Given the description of an element on the screen output the (x, y) to click on. 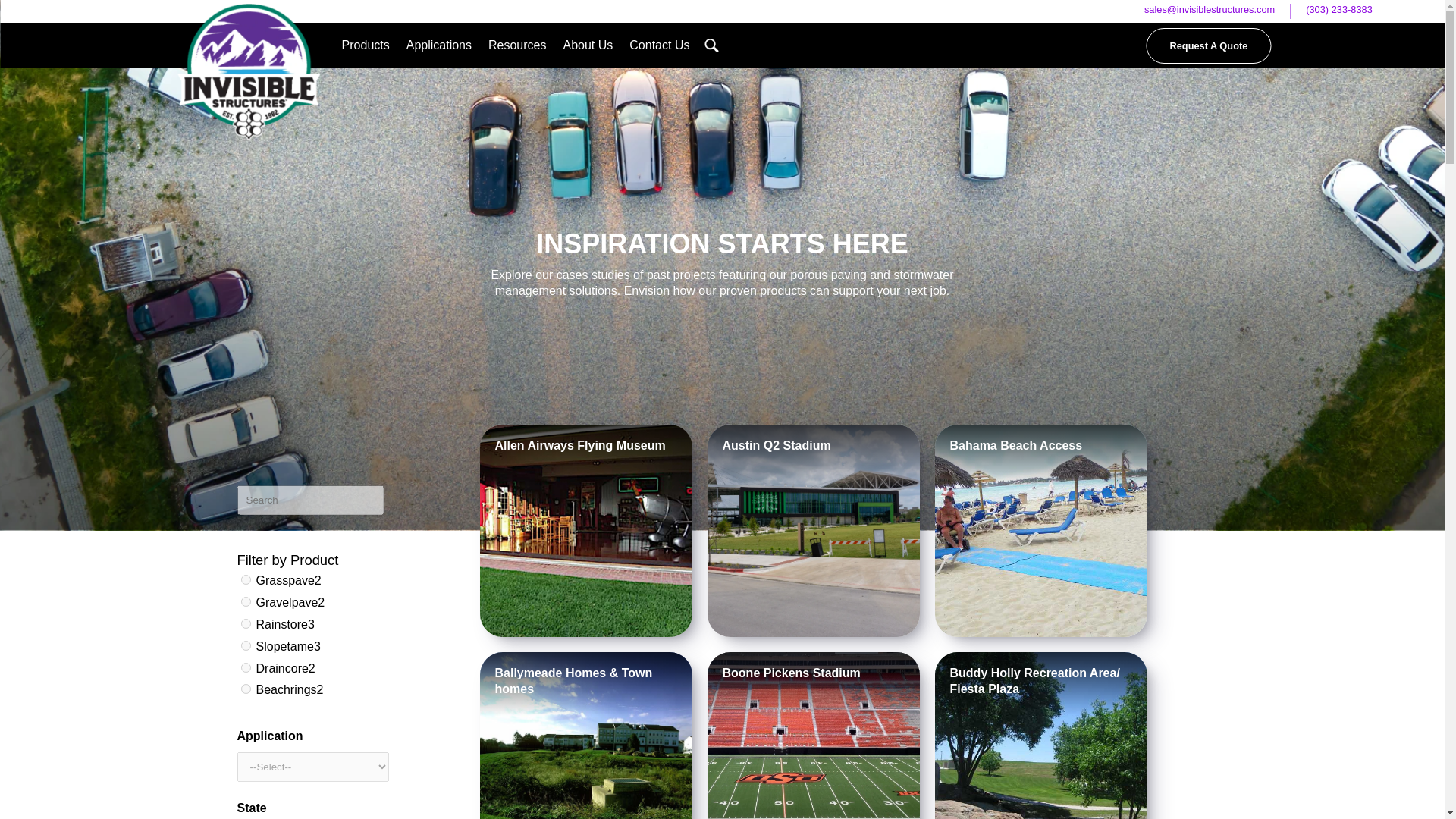
Products (366, 45)
Slopetame3 (245, 645)
Rainstore3 (245, 623)
Resources (516, 45)
About Us (587, 45)
Grasspave2 (245, 579)
Gravelpave2 (245, 601)
Draincore2 (245, 667)
Beachrings2 (245, 688)
Applications (438, 45)
